Given the description of an element on the screen output the (x, y) to click on. 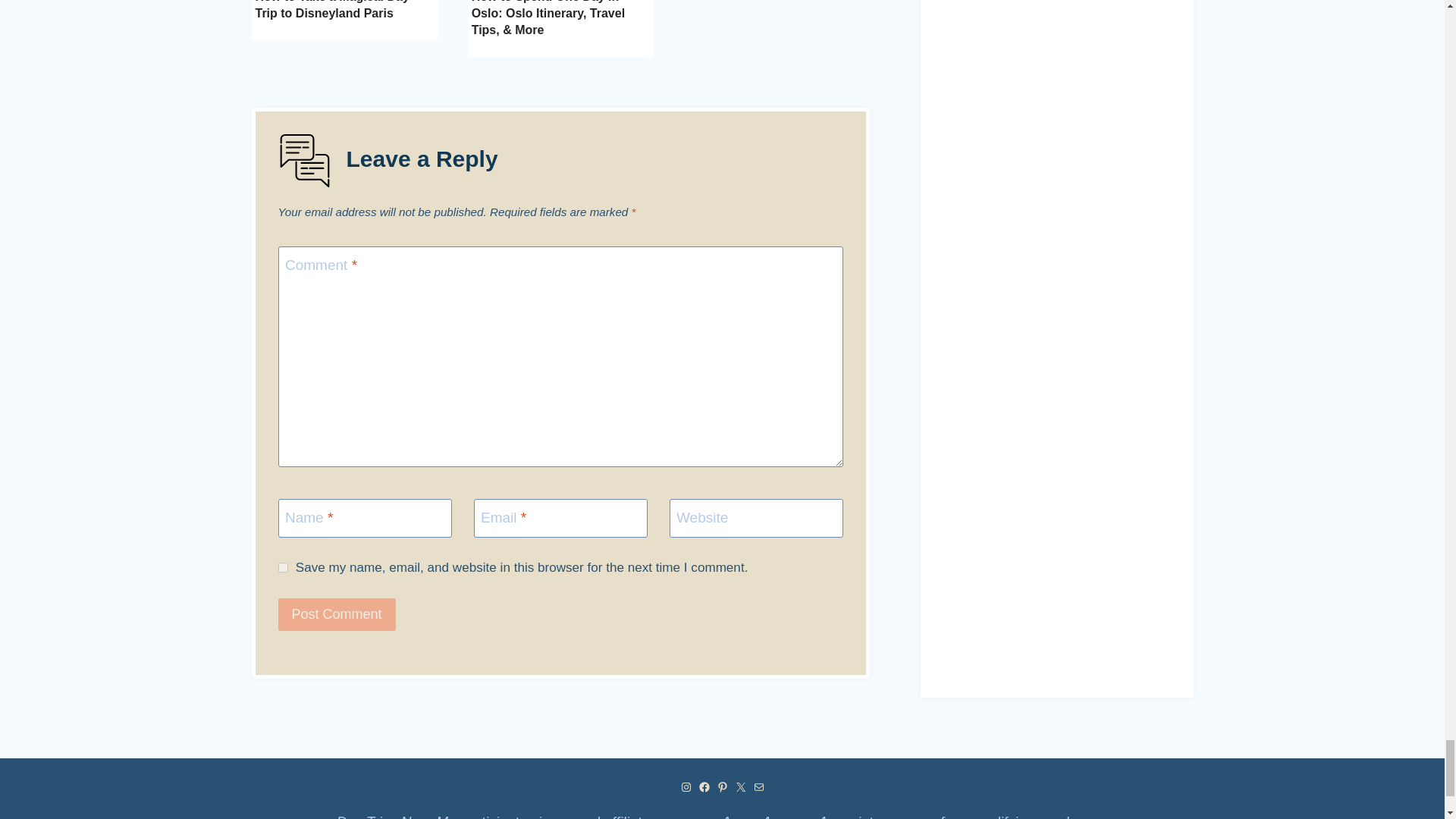
yes (282, 567)
Post Comment (336, 613)
